Given the description of an element on the screen output the (x, y) to click on. 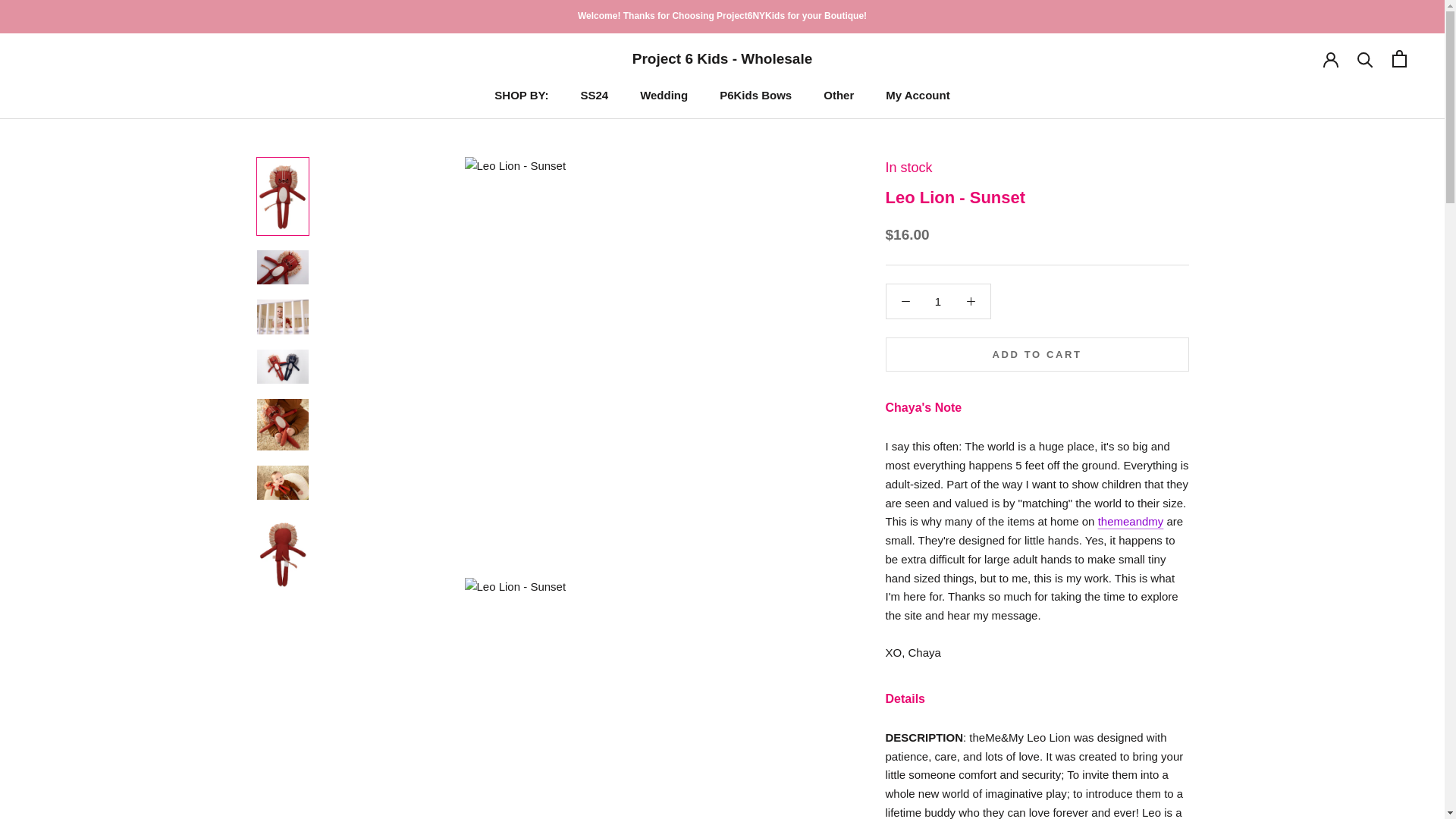
1 (938, 300)
